Given the description of an element on the screen output the (x, y) to click on. 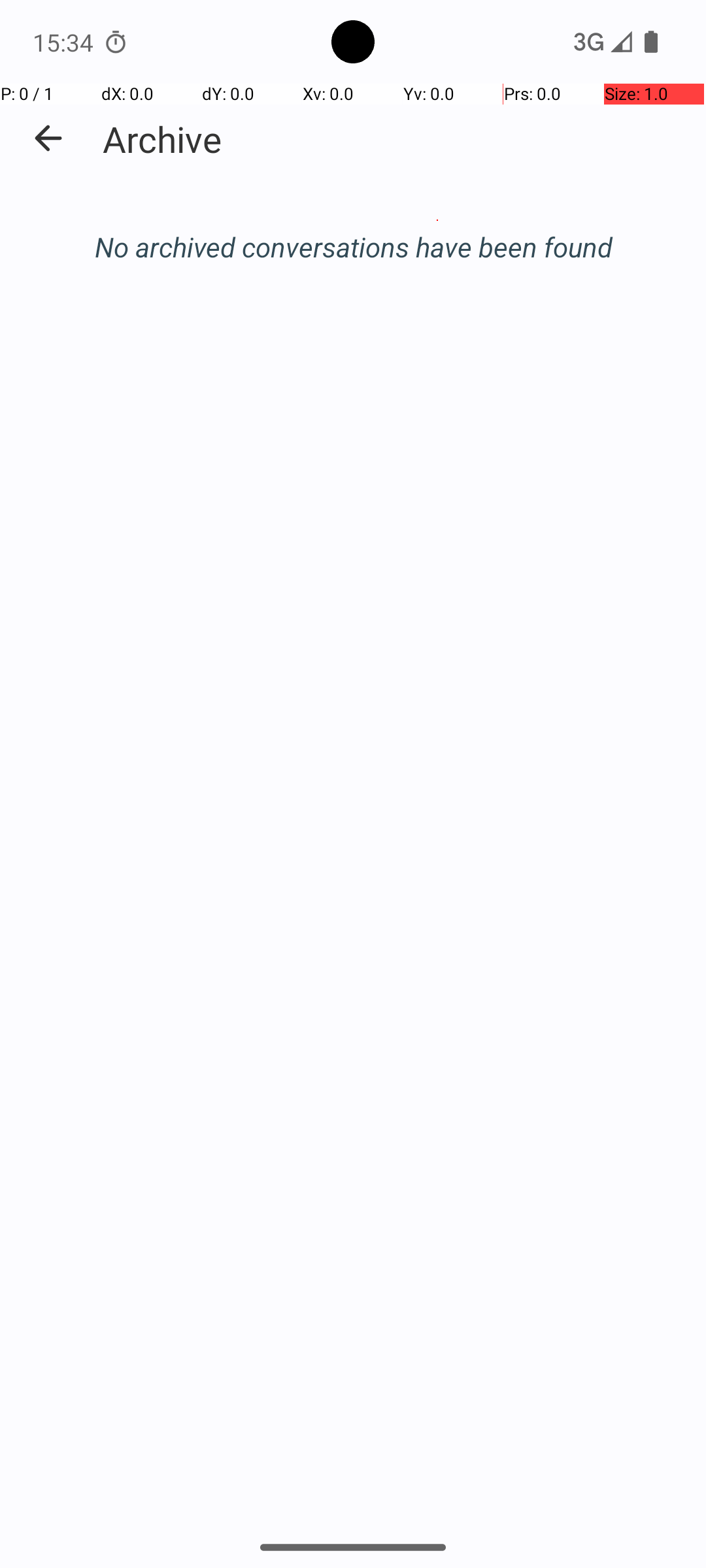
No archived conversations have been found Element type: android.widget.TextView (353, 246)
